Given the description of an element on the screen output the (x, y) to click on. 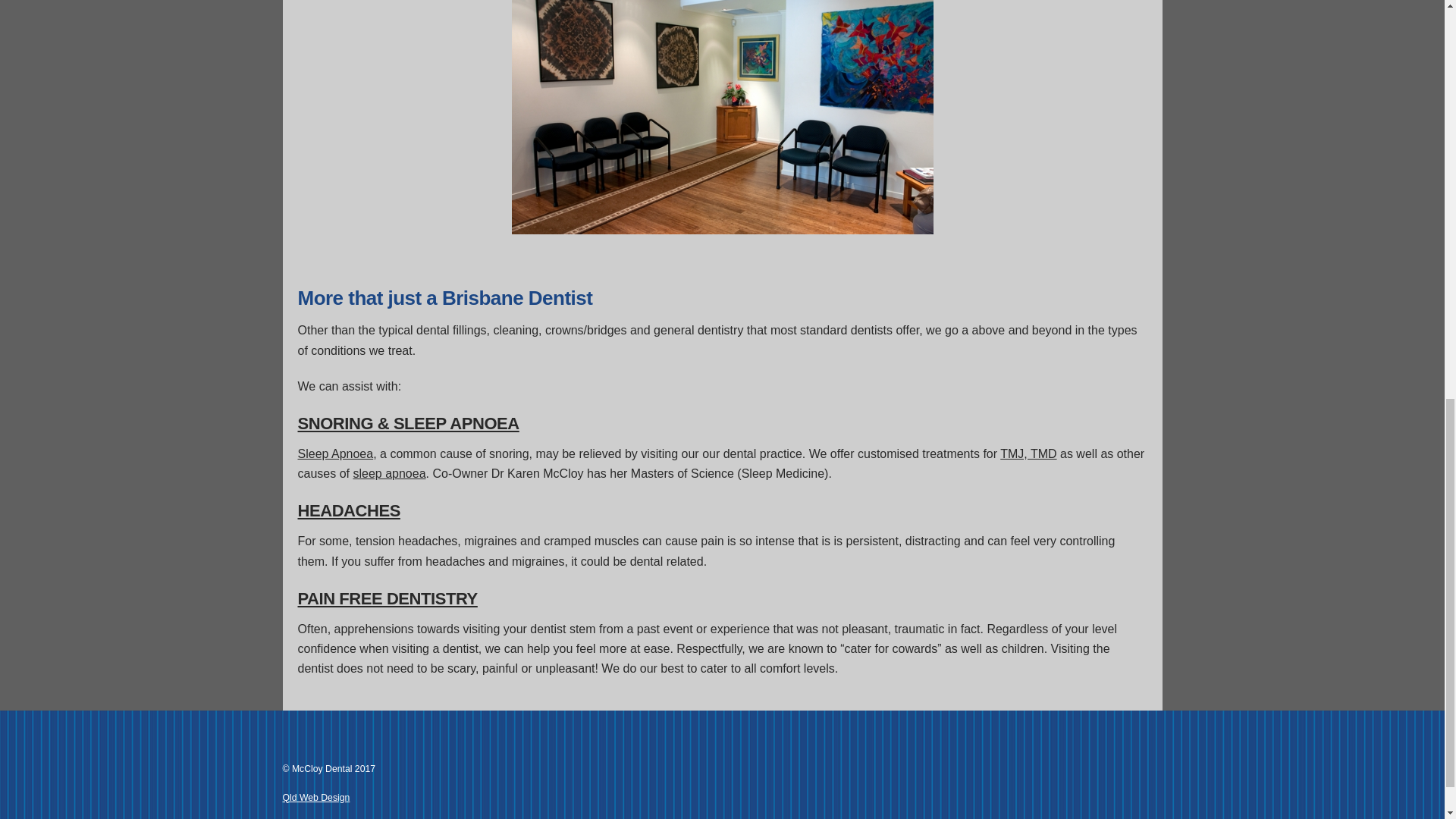
Sleep Apnoea (387, 598)
